Given the description of an element on the screen output the (x, y) to click on. 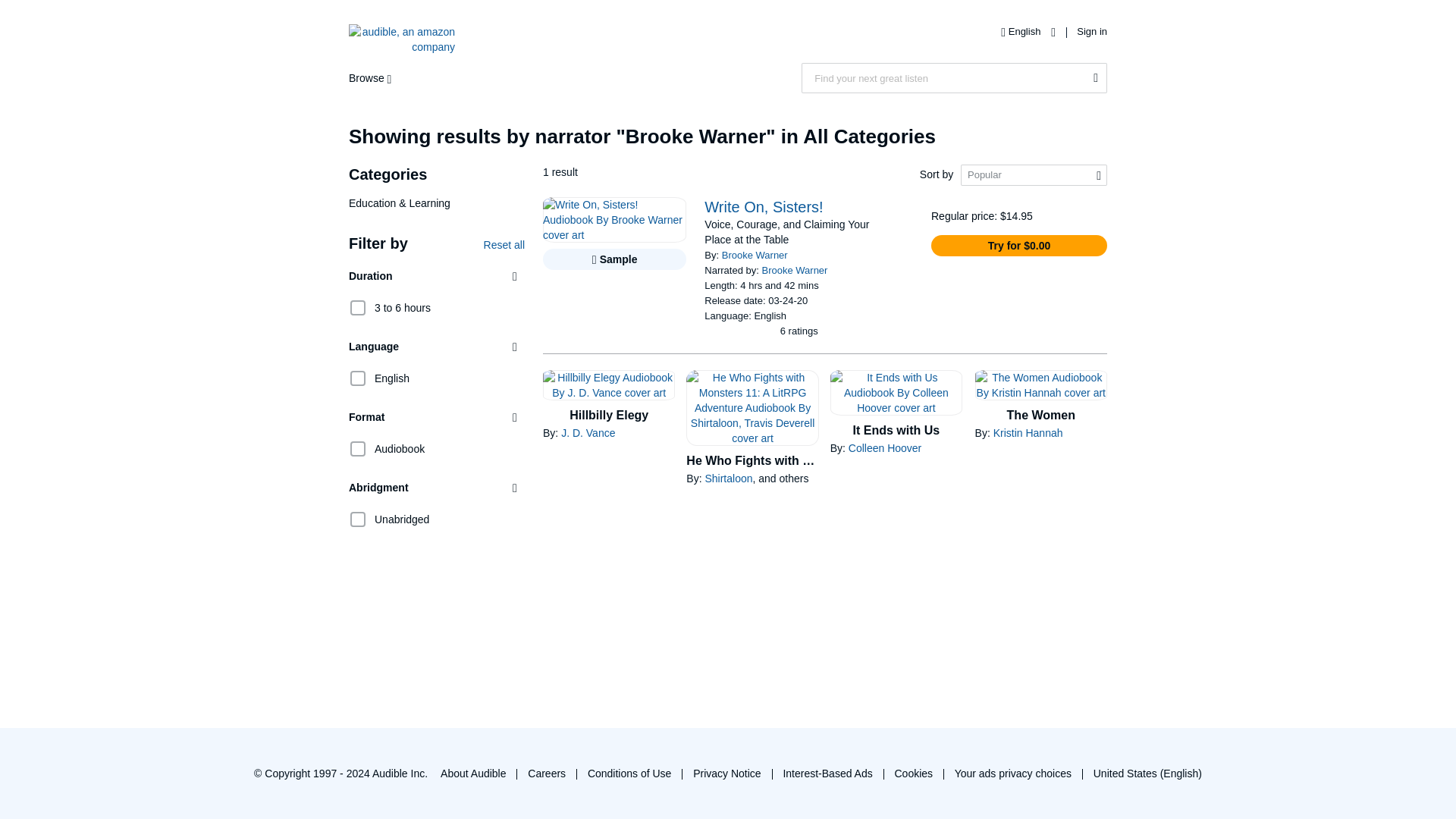
18685552011 (357, 448)
18685580011 (357, 378)
Sign in (1091, 30)
18685632011 (357, 307)
3 to 6 hours (389, 307)
Reset all (503, 244)
English (379, 377)
Duration (436, 276)
18685524011 (357, 519)
English (1023, 30)
Browse (373, 78)
Abridgment (436, 487)
Language (436, 346)
Format (436, 417)
Audiobook (387, 448)
